Given the description of an element on the screen output the (x, y) to click on. 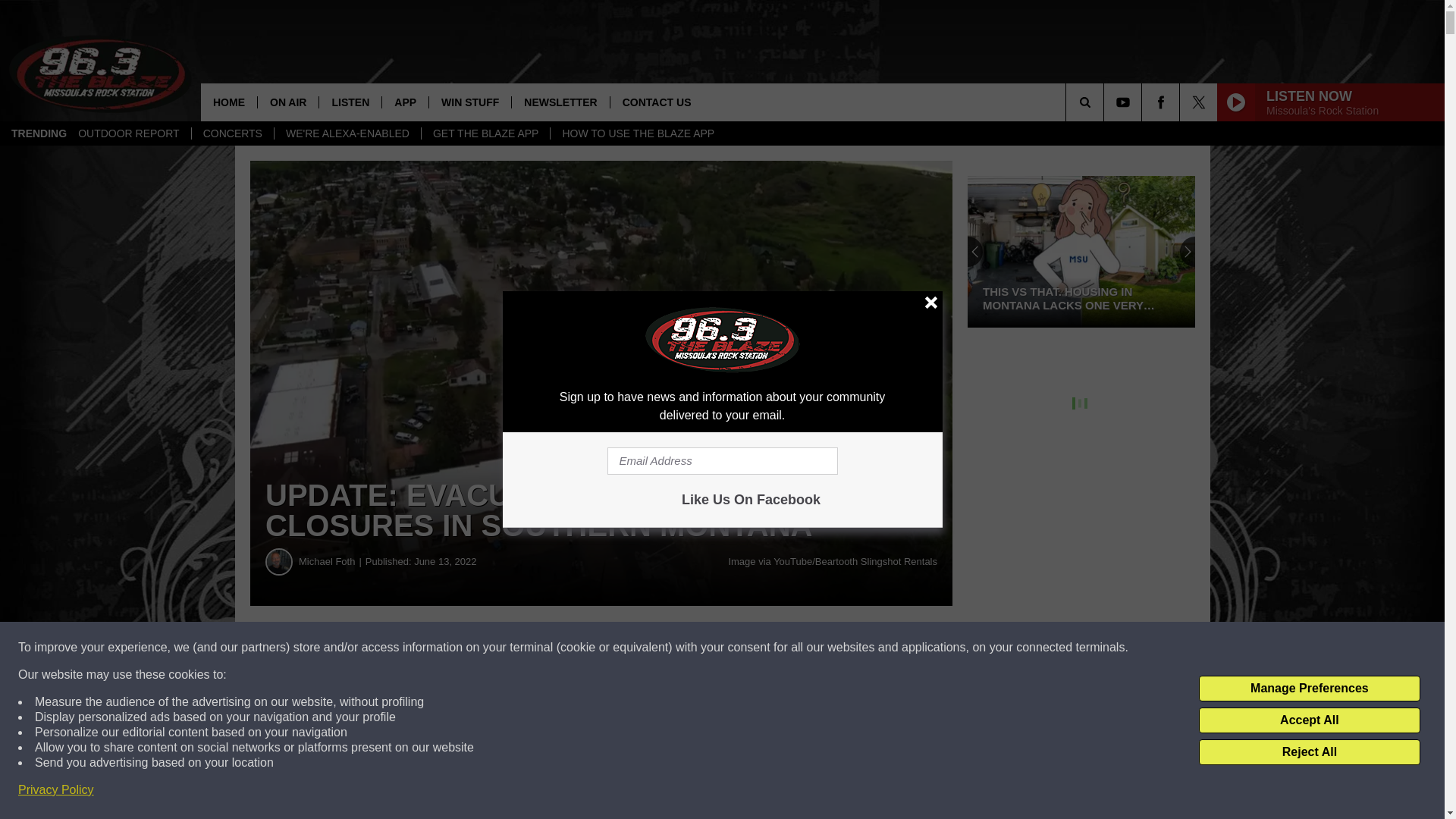
CONCERTS (231, 133)
HOME (228, 102)
Accept All (1309, 720)
Email Address (722, 461)
LISTEN (349, 102)
SEARCH (1106, 102)
Manage Preferences (1309, 688)
Reject All (1309, 751)
Share on Facebook (460, 647)
OUTDOOR REPORT (128, 133)
NEWSLETTER (559, 102)
GET THE BLAZE APP (485, 133)
WIN STUFF (469, 102)
HOW TO USE THE BLAZE APP (637, 133)
ON AIR (287, 102)
